Given the description of an element on the screen output the (x, y) to click on. 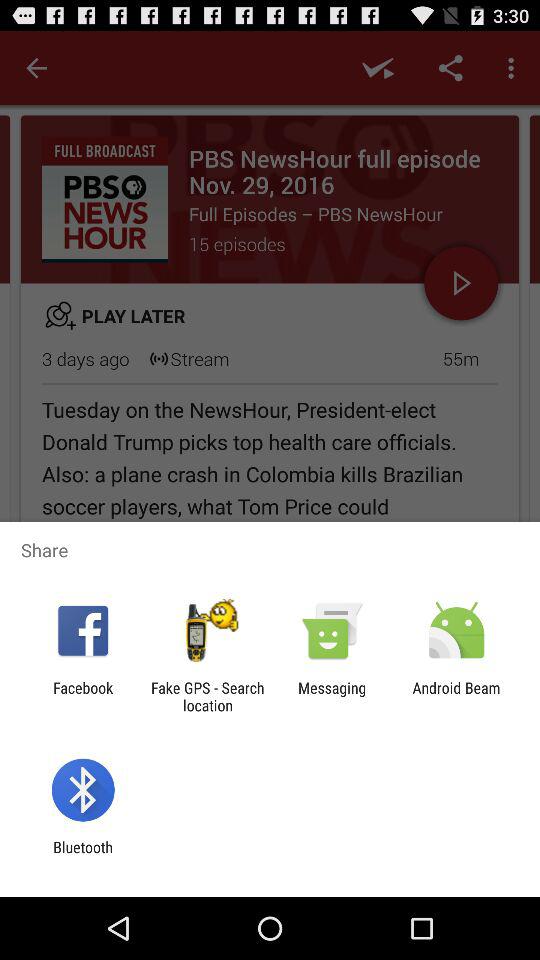
swipe until android beam icon (456, 696)
